Given the description of an element on the screen output the (x, y) to click on. 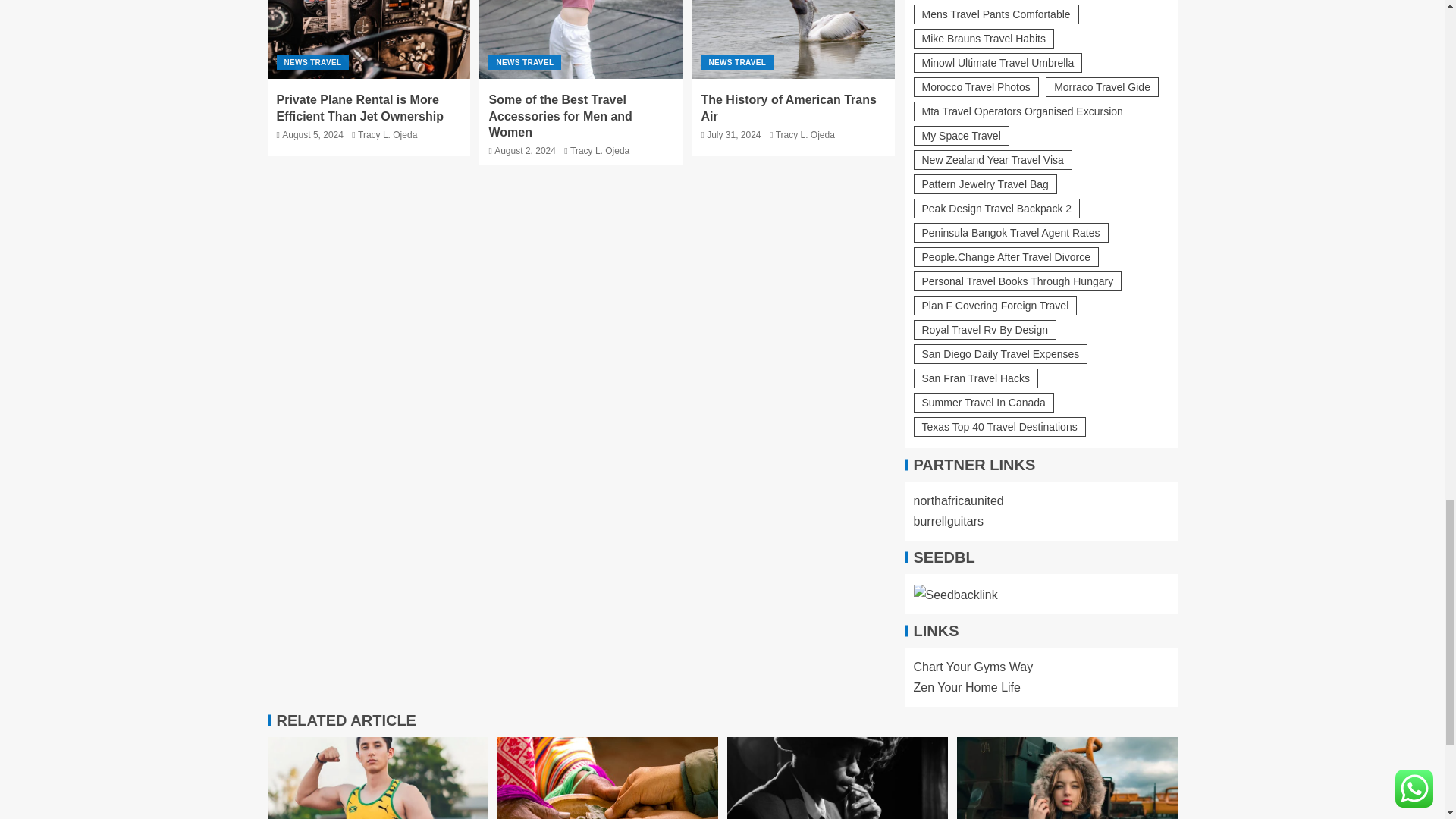
Seedbacklink (954, 594)
Some of the Best Travel Accessories for Men and Women (580, 39)
Private Plane Rental is More Efficient Than Jet Ownership (368, 39)
The History of American Trans Air (793, 39)
Top 10 Cheap Jamaica Hotels (376, 778)
General Aviation in India (607, 778)
